Given the description of an element on the screen output the (x, y) to click on. 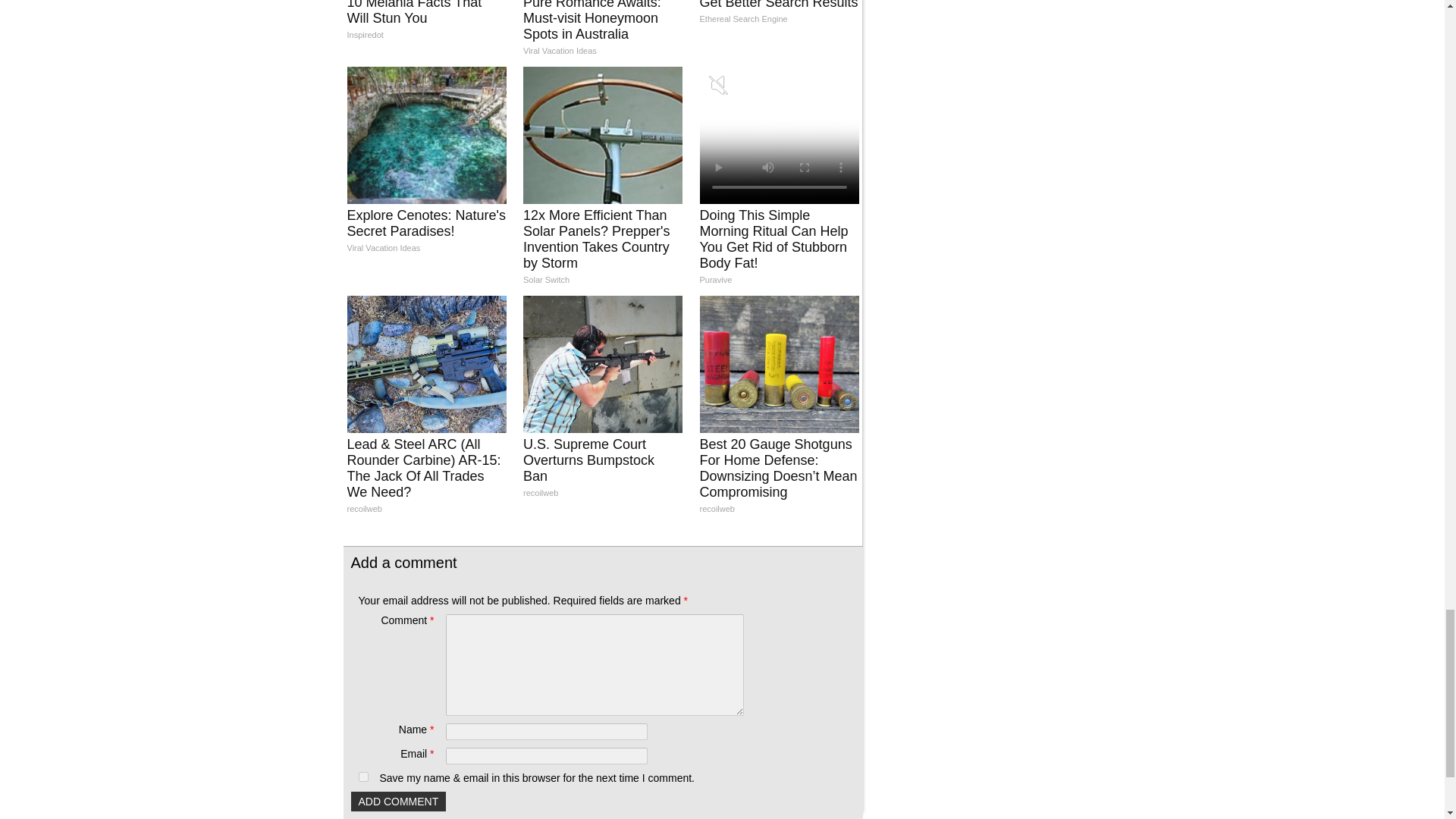
Add comment (397, 801)
yes (363, 777)
